Given the description of an element on the screen output the (x, y) to click on. 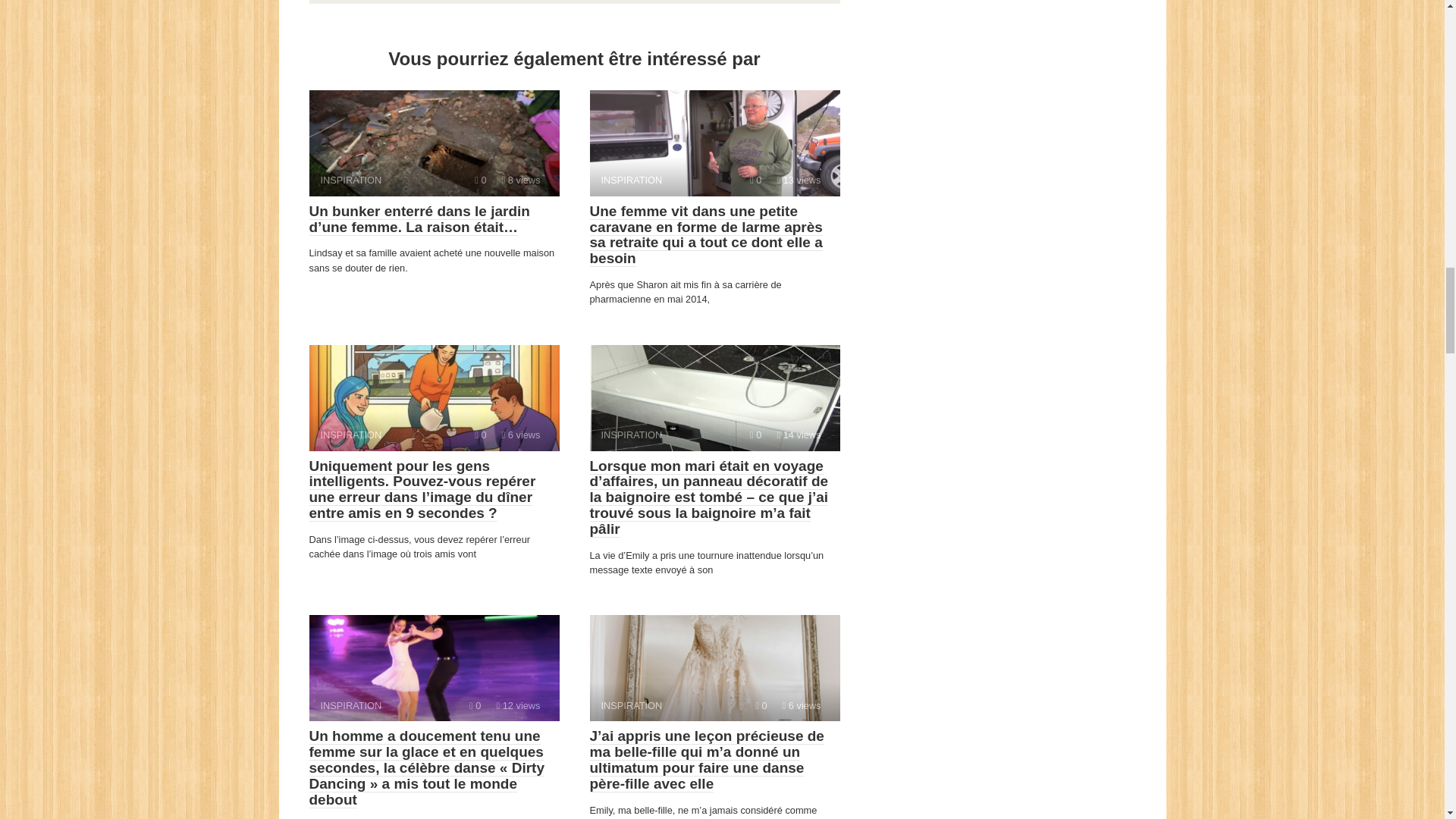
Views (521, 434)
Comments (714, 668)
Views (755, 179)
Comments (521, 179)
Views (714, 397)
Comments (480, 179)
Comments (798, 434)
Views (433, 397)
Views (474, 705)
